Given the description of an element on the screen output the (x, y) to click on. 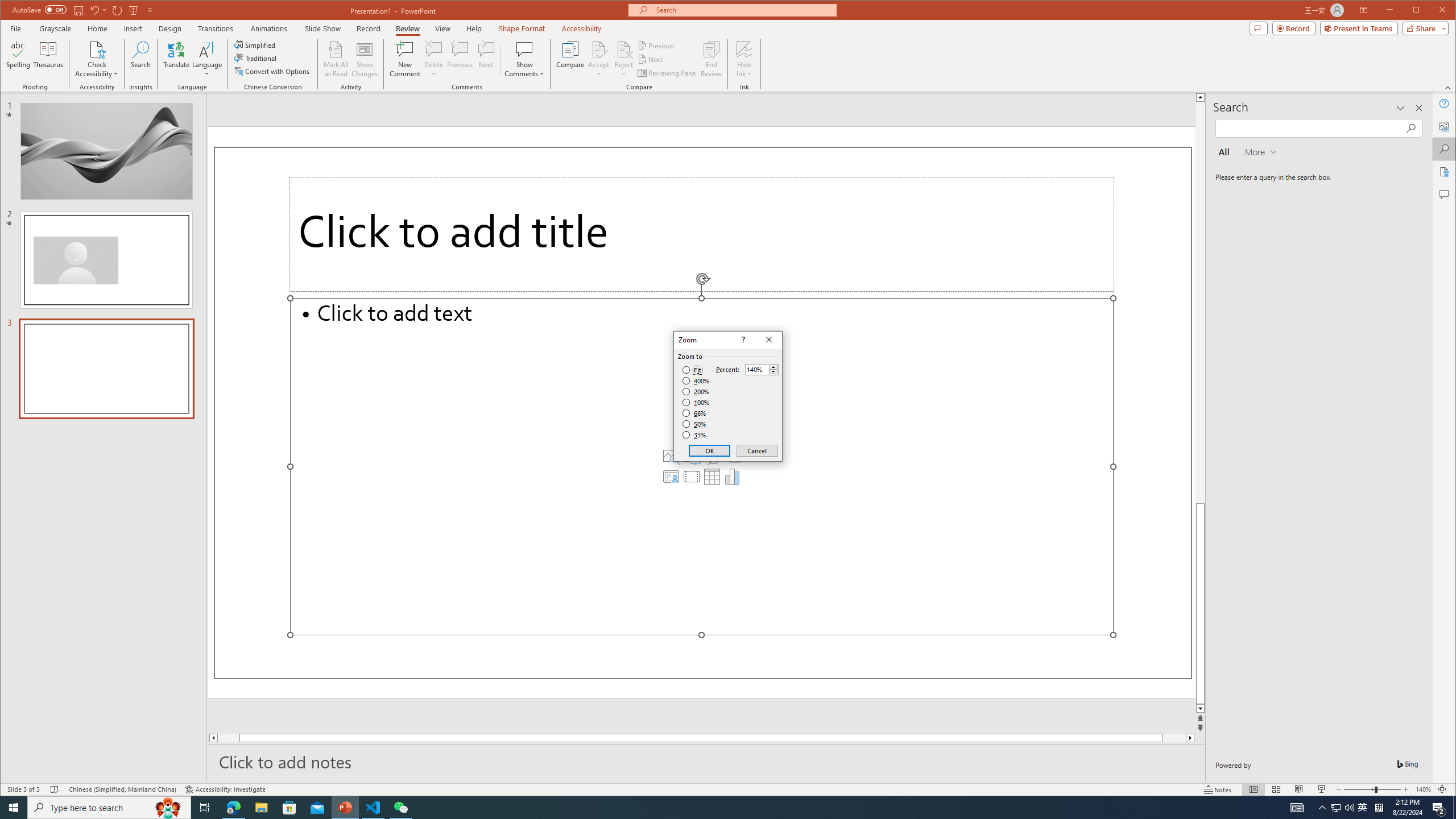
Compare (569, 59)
